Given the description of an element on the screen output the (x, y) to click on. 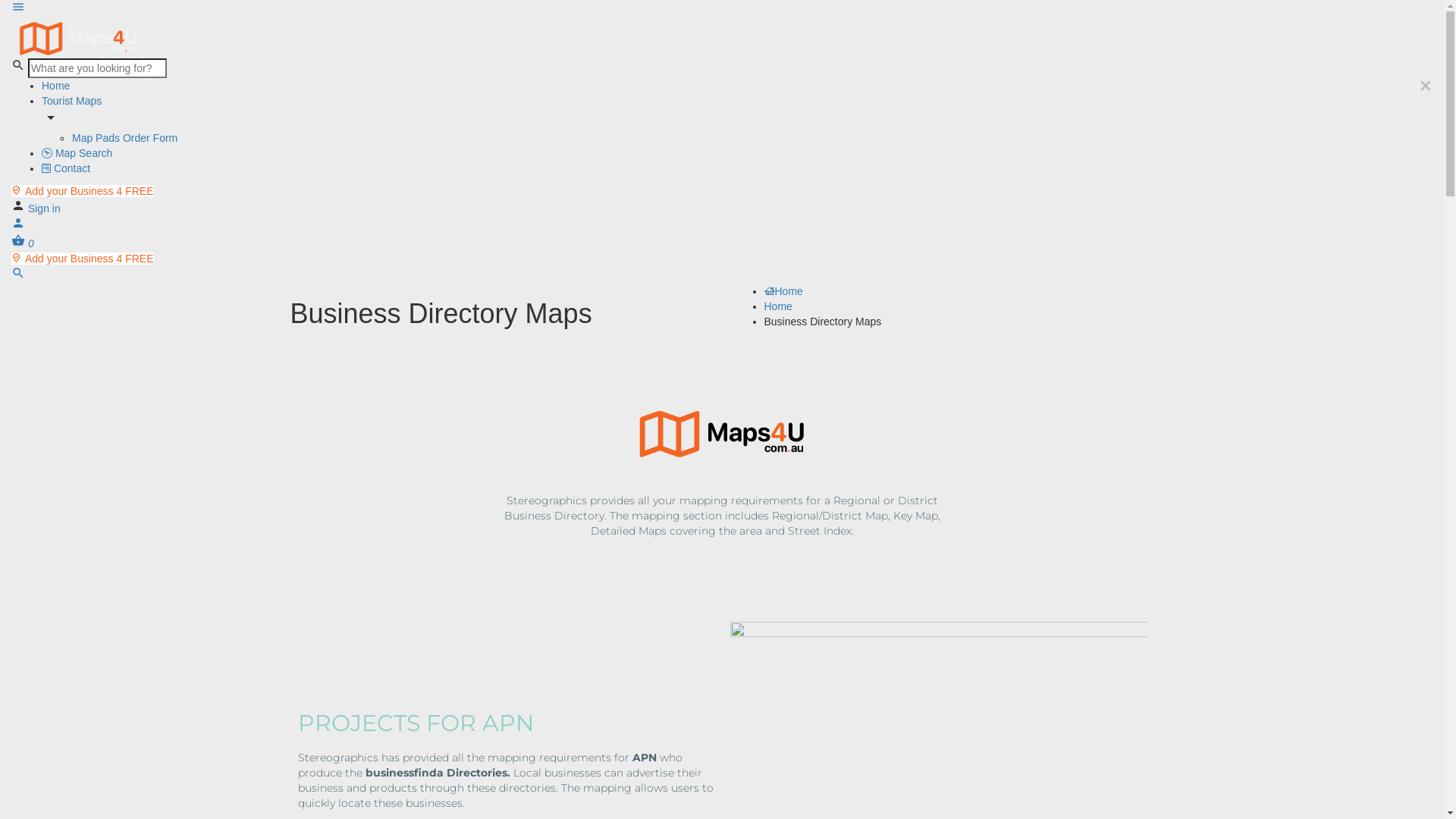
Home Element type: text (959, 305)
Map Search Element type: text (76, 153)
0 Element type: text (22, 243)
Home Element type: text (55, 85)
Home Element type: text (959, 290)
Add your Business 4 FREE Element type: text (82, 191)
Sign in Element type: text (44, 208)
Contact Element type: text (65, 168)
Add your Business 4 FREE Element type: text (82, 258)
Tourist Maps Element type: text (71, 100)
Map Pads Order Form Element type: text (124, 137)
